Given the description of an element on the screen output the (x, y) to click on. 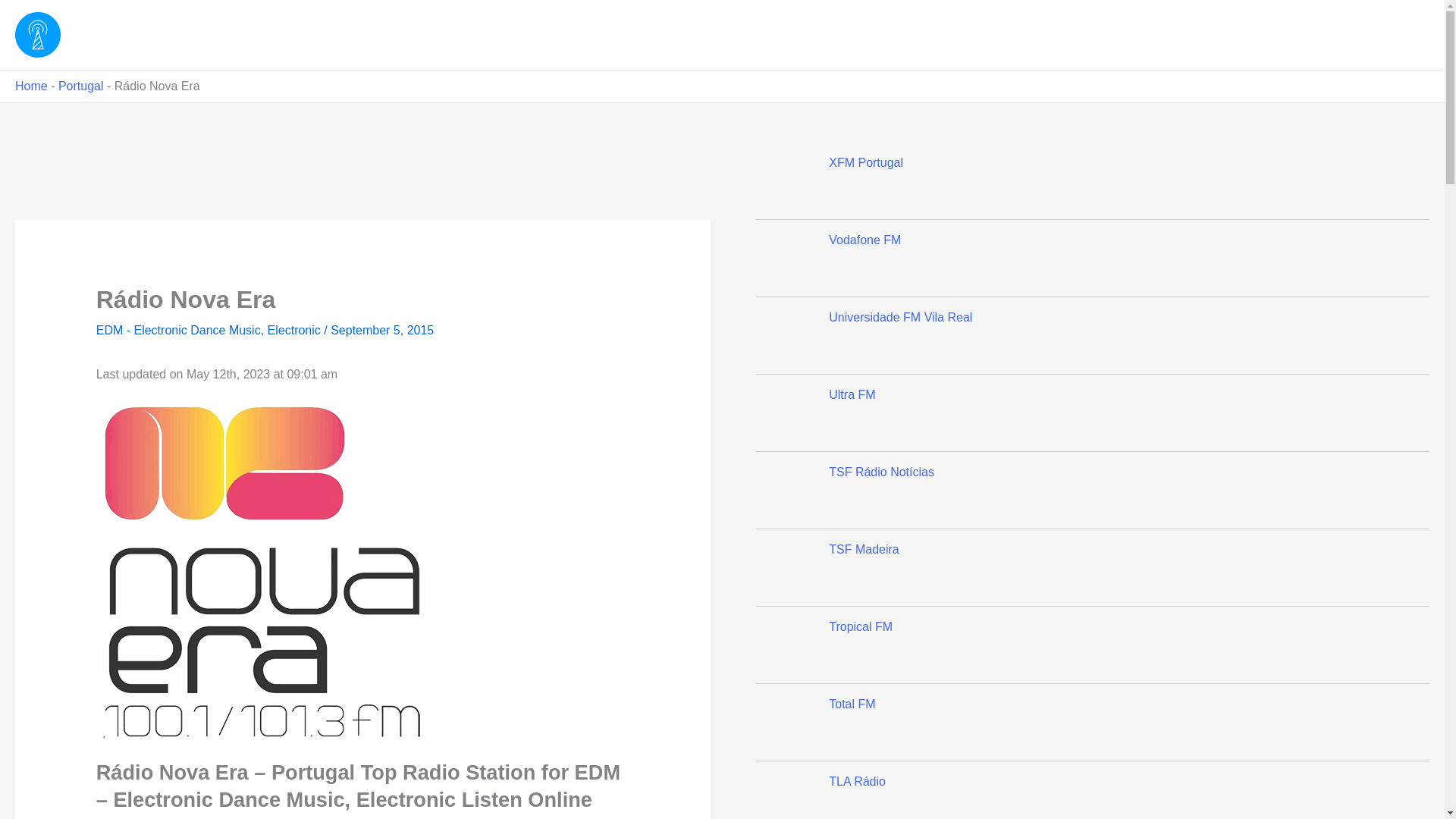
Top Radio (119, 33)
Portugal (80, 85)
Home (31, 85)
Electronic (293, 329)
Genres (1315, 34)
EDM - Electronic Dance Music (178, 329)
Countries (1388, 34)
